Given the description of an element on the screen output the (x, y) to click on. 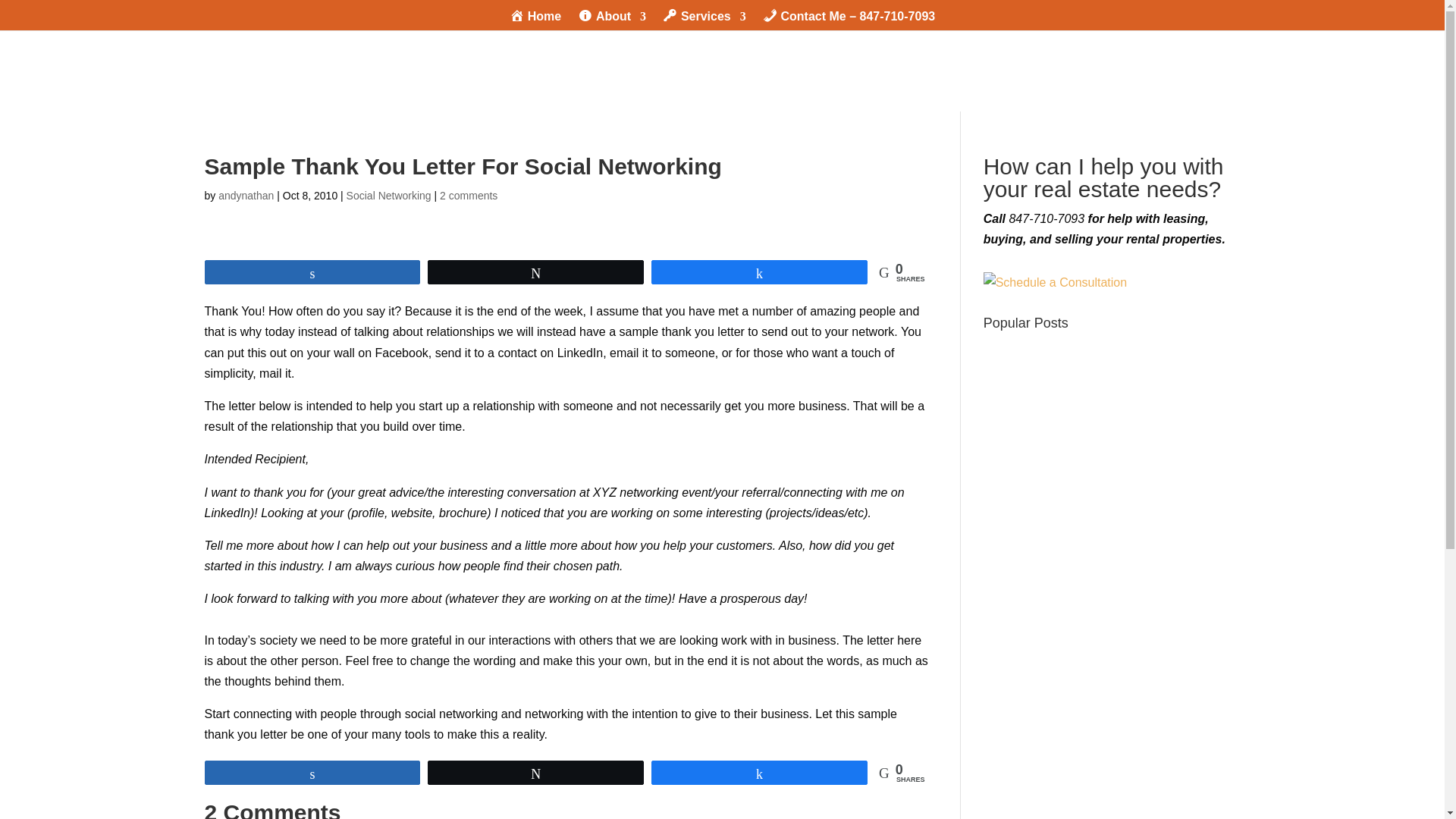
andynathan (245, 195)
Home (534, 20)
2 comments (468, 195)
Services (703, 20)
Posts by andynathan (245, 195)
Social Networking (388, 195)
About (612, 20)
